Given the description of an element on the screen output the (x, y) to click on. 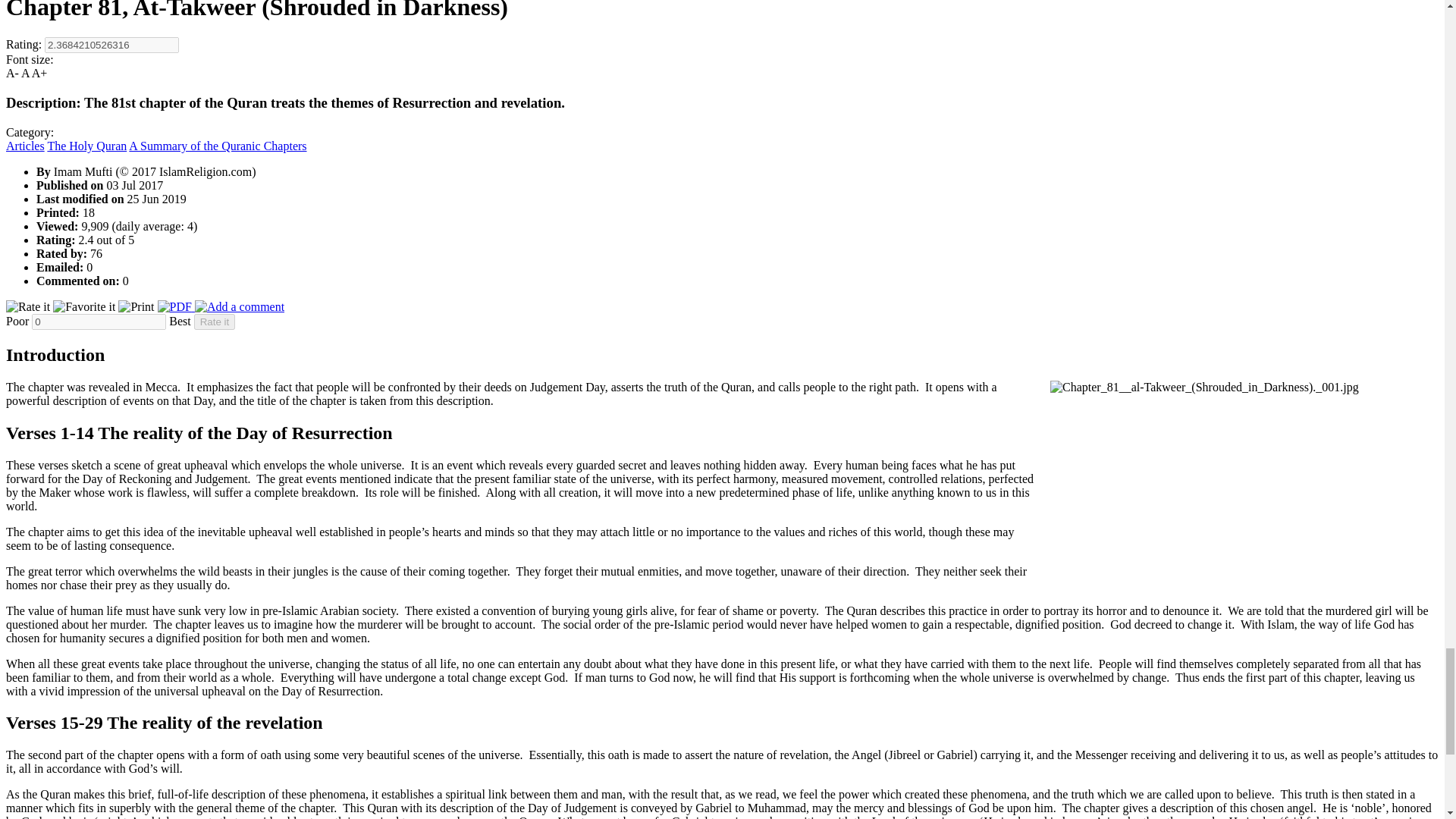
Increase font size (40, 72)
Default font size (25, 72)
2.3684210526316 (112, 44)
Rate it (28, 306)
0 (98, 321)
Print (137, 306)
Add this article to your favorites on this site (84, 306)
Decrease font size (11, 72)
